Given the description of an element on the screen output the (x, y) to click on. 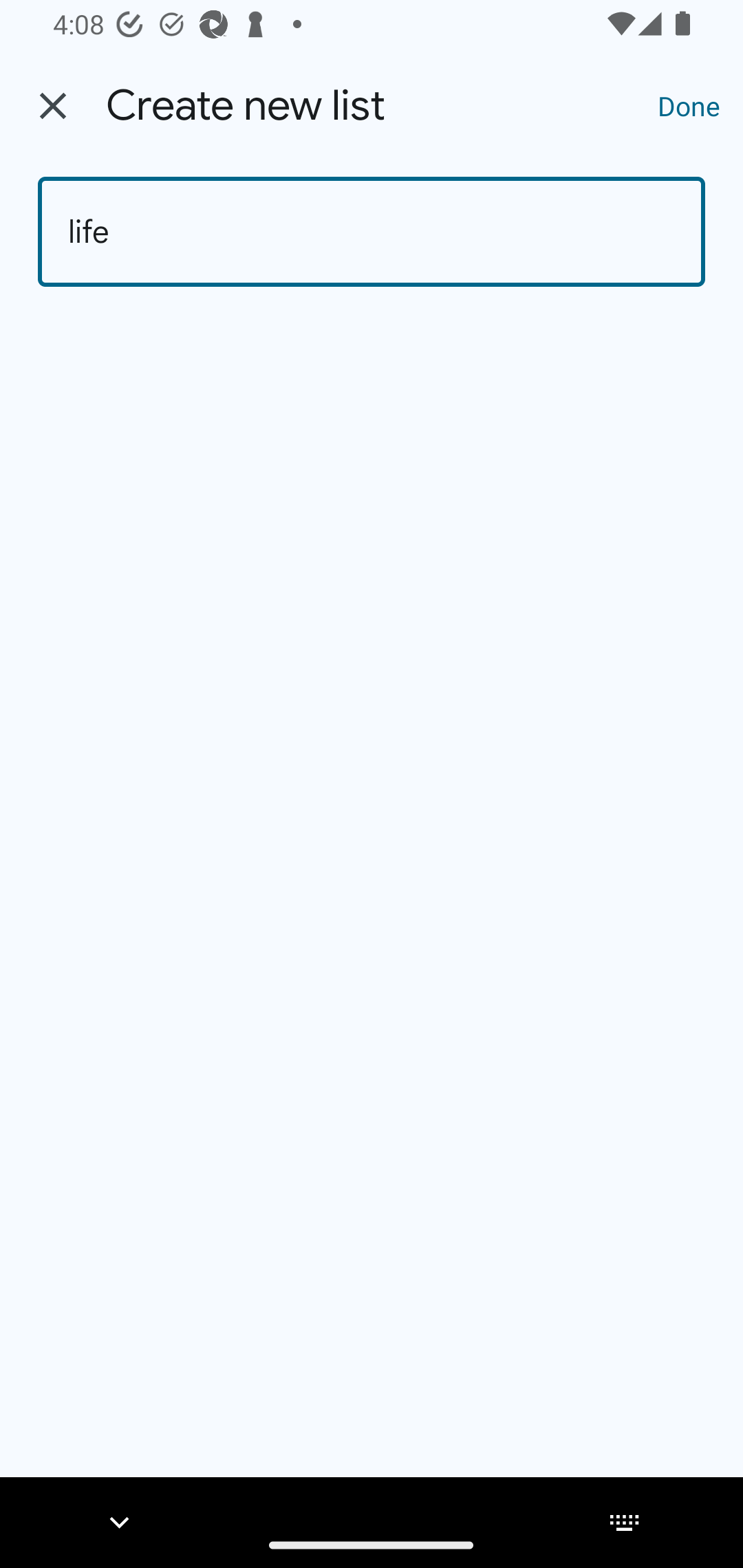
Back (53, 105)
Done (689, 105)
life (371, 231)
